Given the description of an element on the screen output the (x, y) to click on. 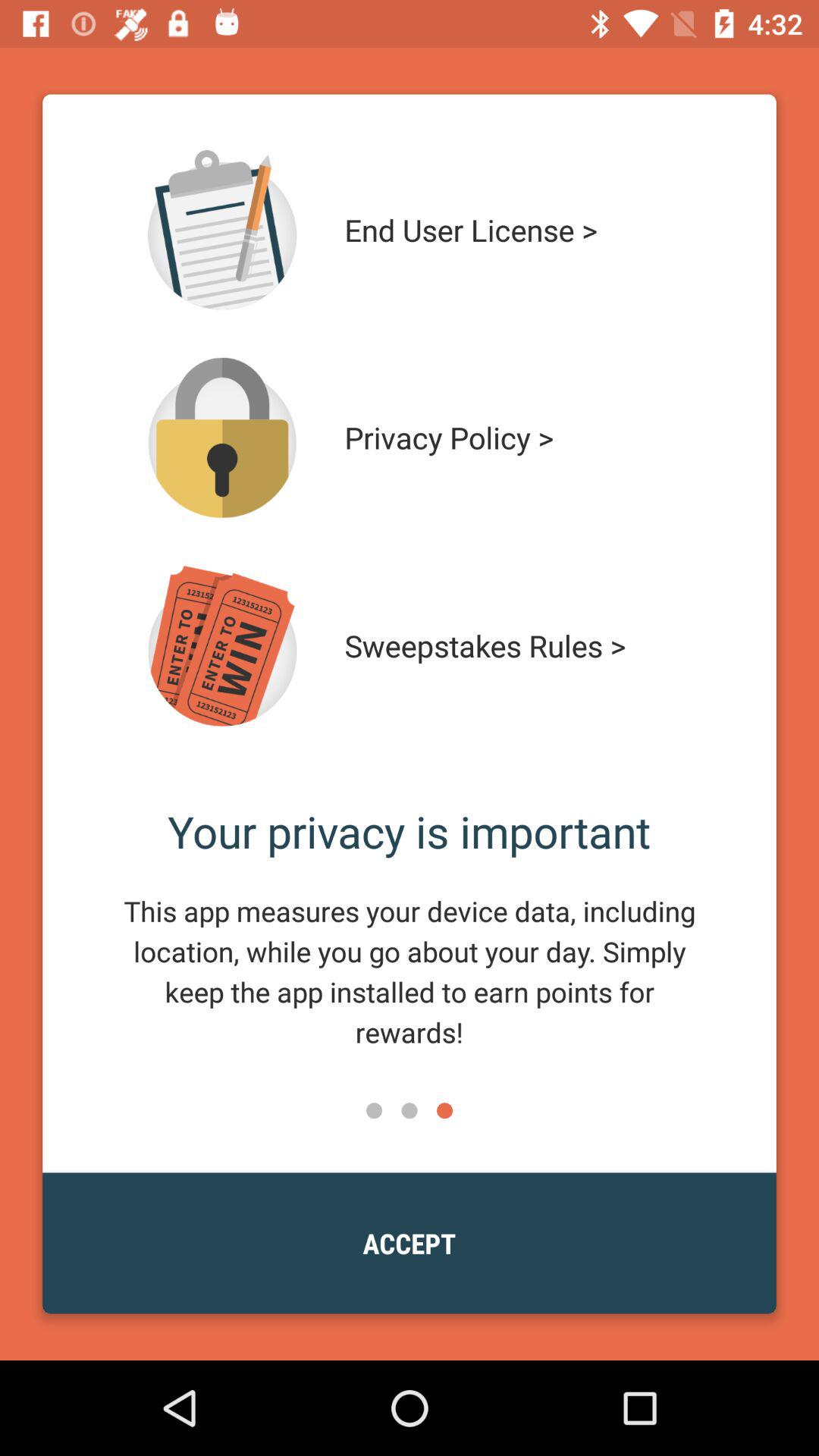
press sweepstakes rules > (514, 646)
